Given the description of an element on the screen output the (x, y) to click on. 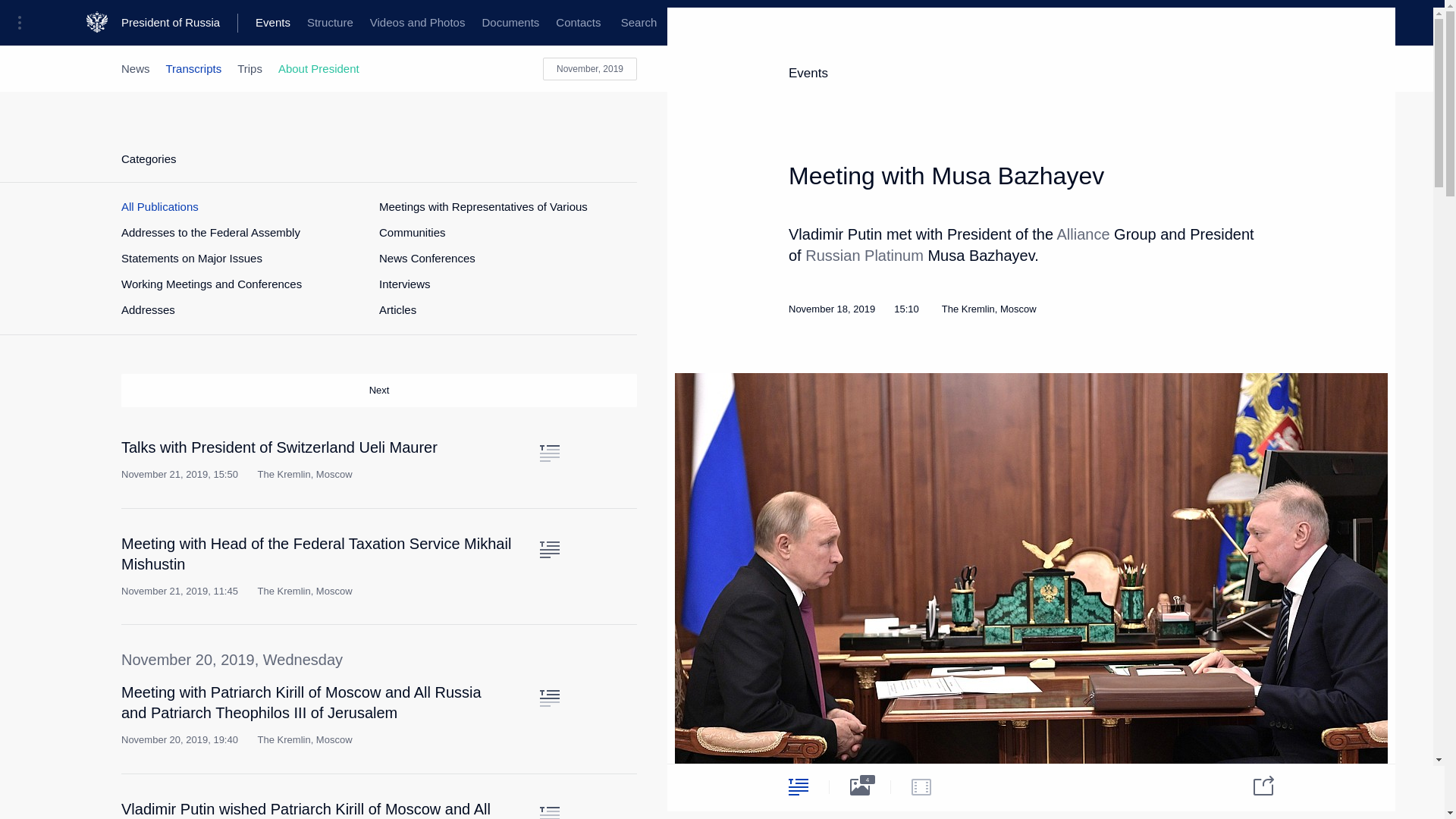
Statements on Major Issues (191, 258)
Transcripts (194, 68)
Working Meetings and Conferences (210, 284)
Text of the article (549, 812)
State Council (378, 22)
Search (638, 22)
Interviews (404, 284)
Documents (510, 22)
